Given the description of an element on the screen output the (x, y) to click on. 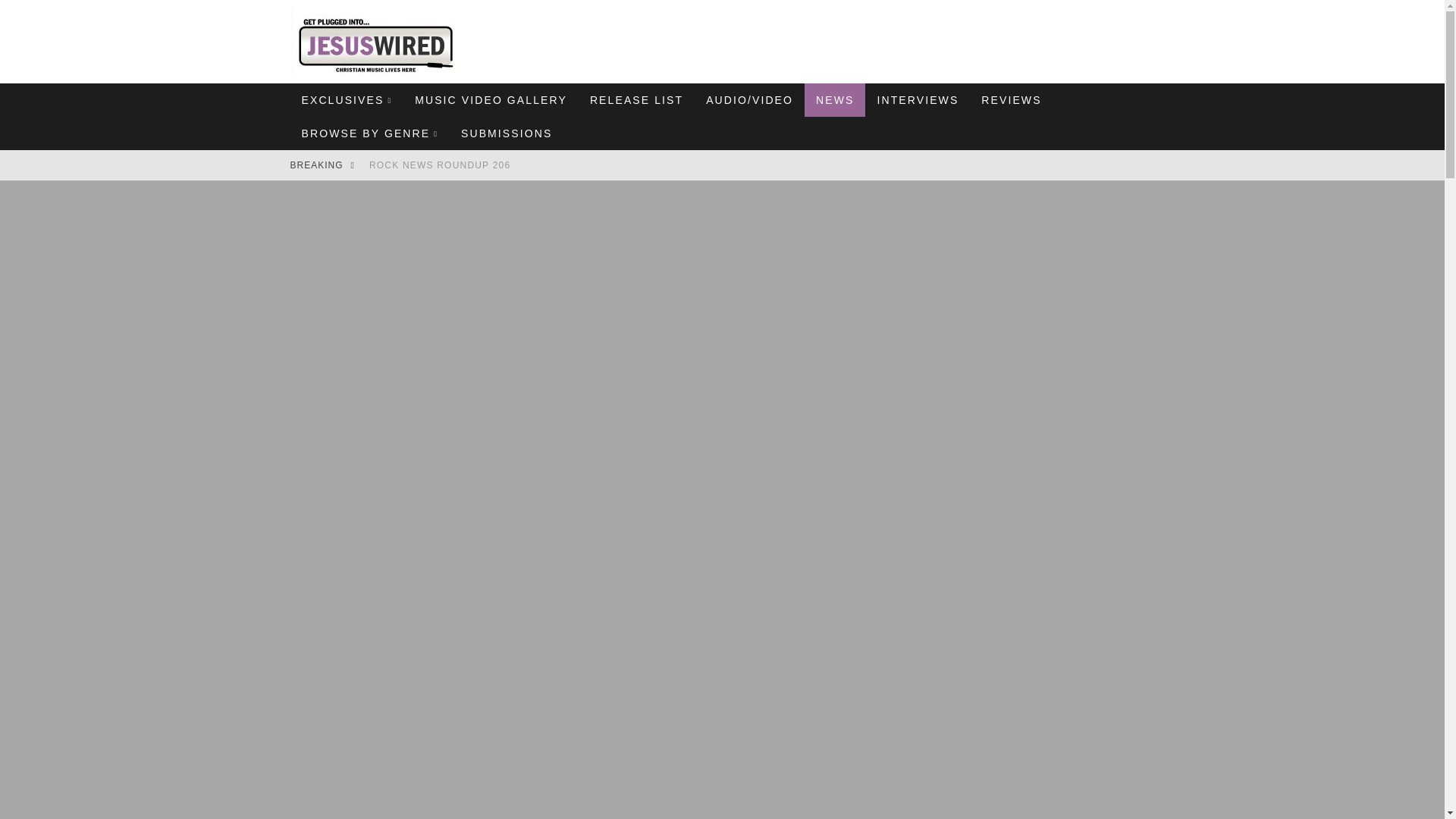
RELEASE LIST (636, 100)
Rock News Roundup 206 (440, 164)
MUSIC VIDEO GALLERY (490, 100)
EXCLUSIVES (346, 100)
